Given the description of an element on the screen output the (x, y) to click on. 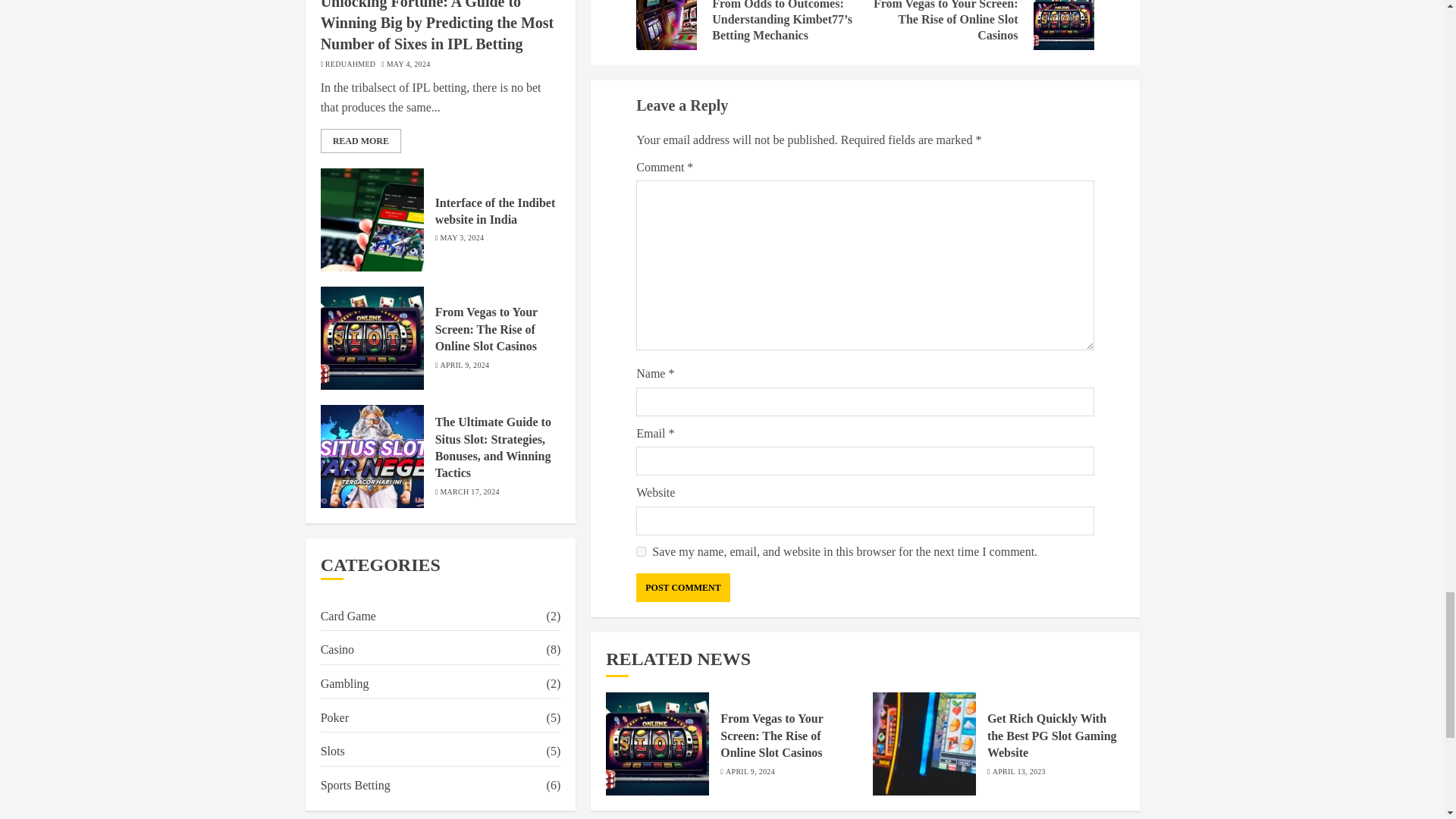
yes (641, 551)
Post Comment (682, 587)
Post Comment (682, 587)
